Given the description of an element on the screen output the (x, y) to click on. 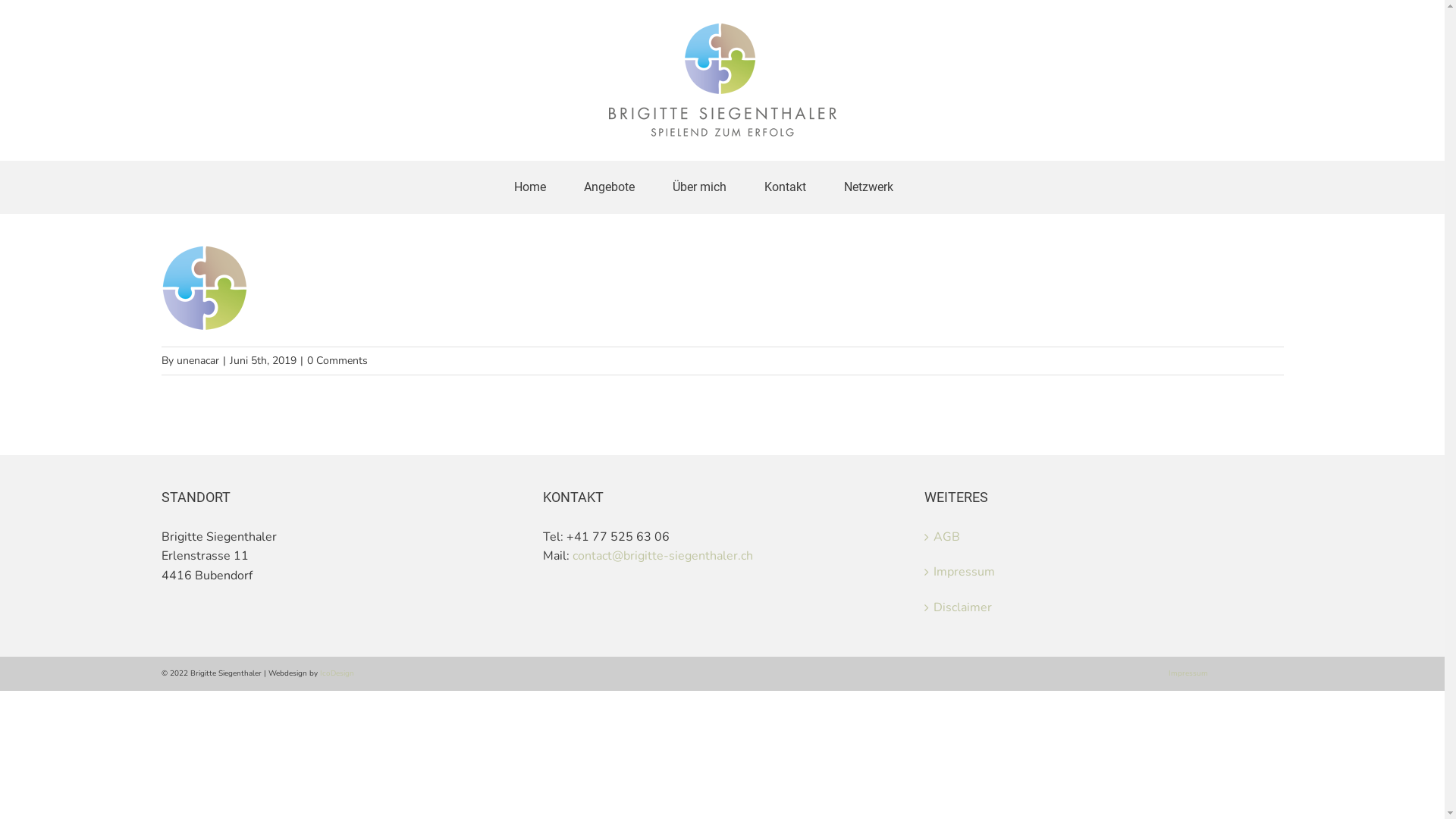
Disclaimer Element type: text (1104, 608)
Netzwerk Element type: text (867, 186)
Impressum Element type: text (1187, 673)
Kontakt Element type: text (785, 186)
Home Element type: text (530, 186)
contact@brigitte-siegenthaler.ch Element type: text (662, 555)
Impressum Element type: text (1104, 572)
IcoDesign Element type: text (337, 673)
unenacar Element type: text (196, 360)
Angebote Element type: text (608, 186)
AGB Element type: text (1104, 537)
0 Comments Element type: text (336, 360)
